Given the description of an element on the screen output the (x, y) to click on. 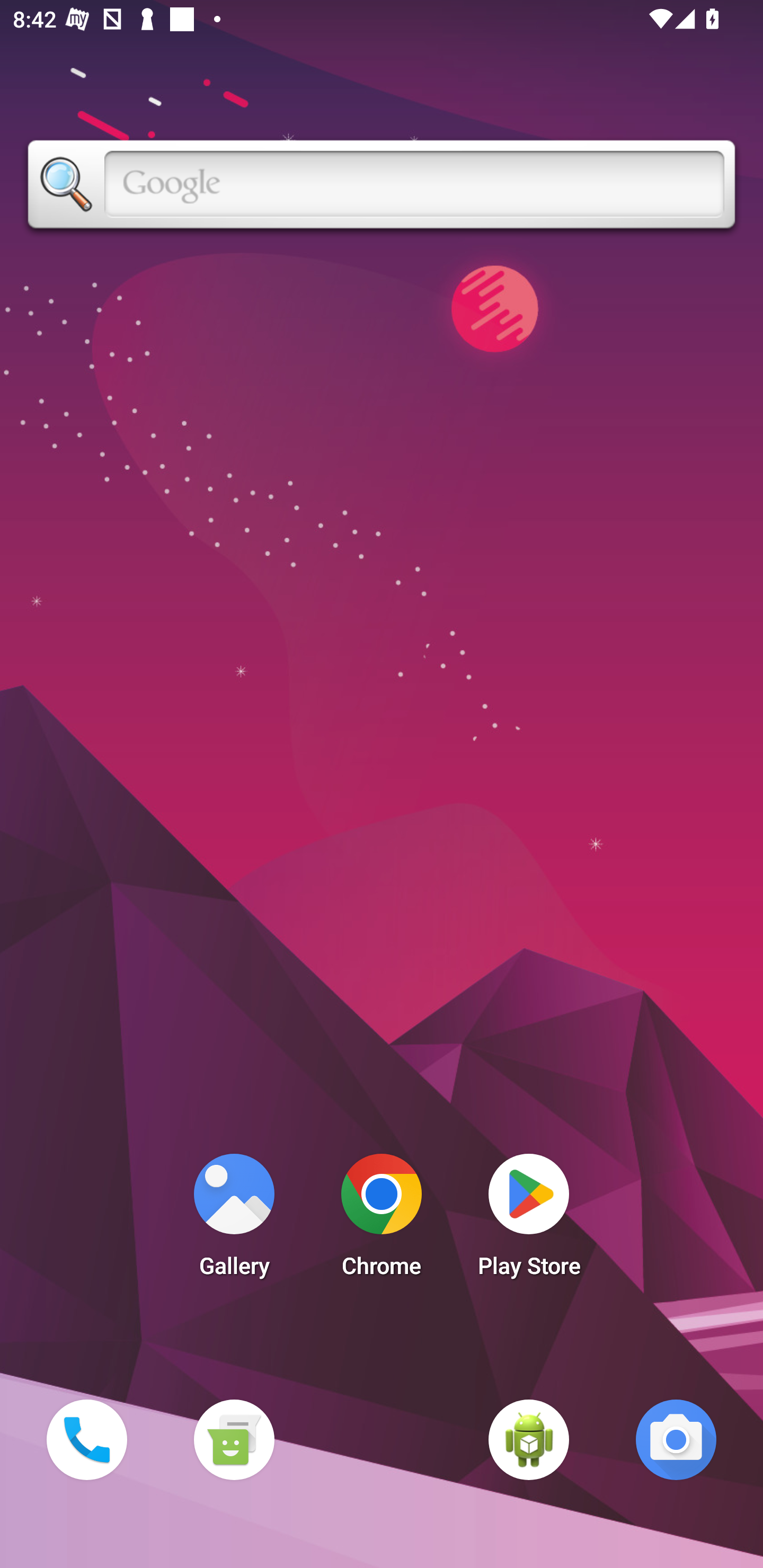
Gallery (233, 1220)
Chrome (381, 1220)
Play Store (528, 1220)
Phone (86, 1439)
Messaging (233, 1439)
WebView Browser Tester (528, 1439)
Camera (676, 1439)
